Given the description of an element on the screen output the (x, y) to click on. 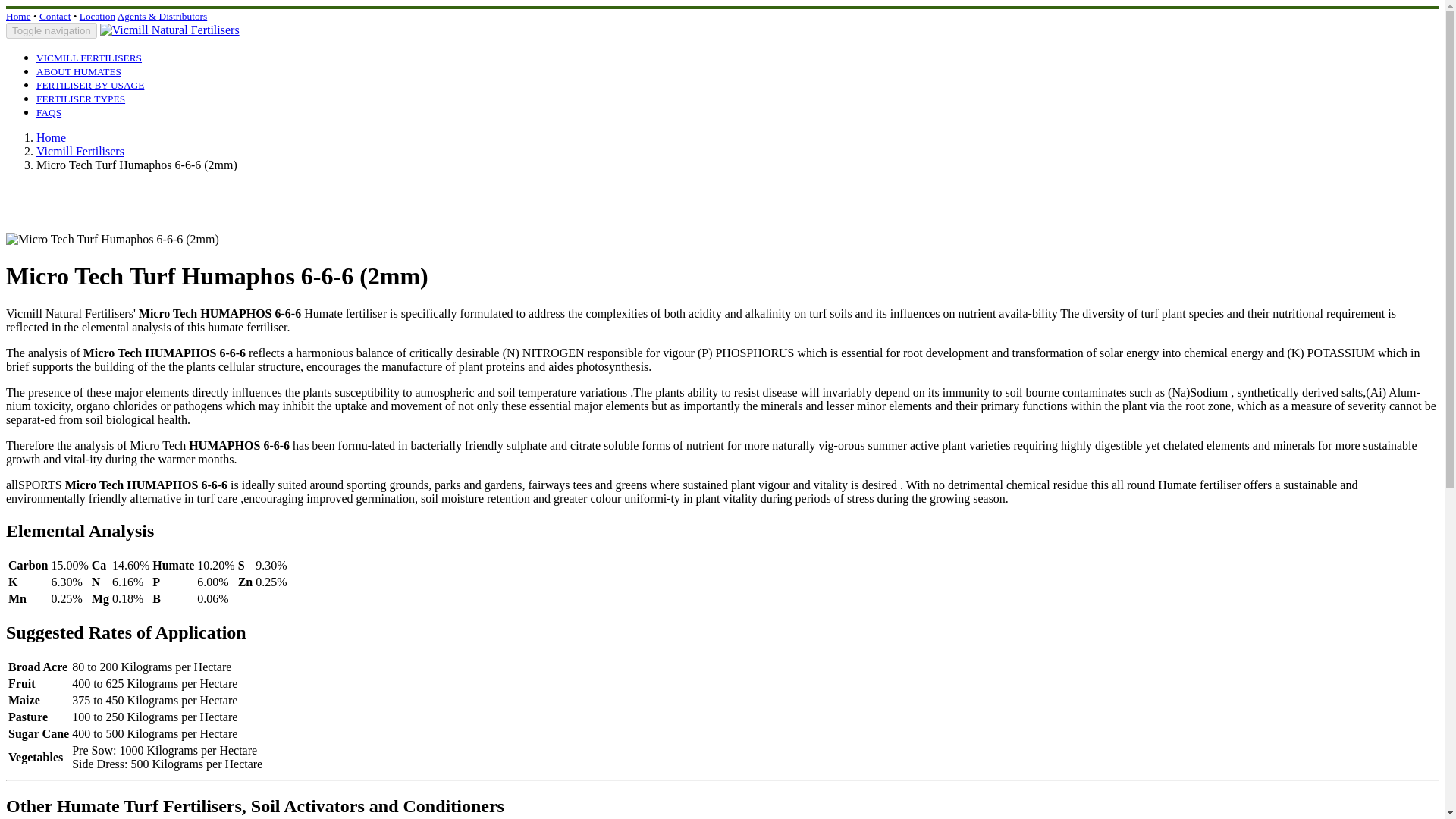
Fertiliser By Usage (90, 83)
Toggle navigation (51, 30)
Vicmill Natural Fertilisers (170, 29)
FERTILISER TYPES (80, 97)
Vicmill Fertilisers (79, 151)
Home (17, 16)
ABOUT HUMATES (78, 70)
FERTILISER BY USAGE (90, 83)
Location (97, 16)
FAQS (48, 111)
Fertiliser Types (80, 97)
Contact (54, 16)
Home (50, 137)
Vicmill Fertilisers (88, 56)
VICMILL FERTILISERS (88, 56)
